Given the description of an element on the screen output the (x, y) to click on. 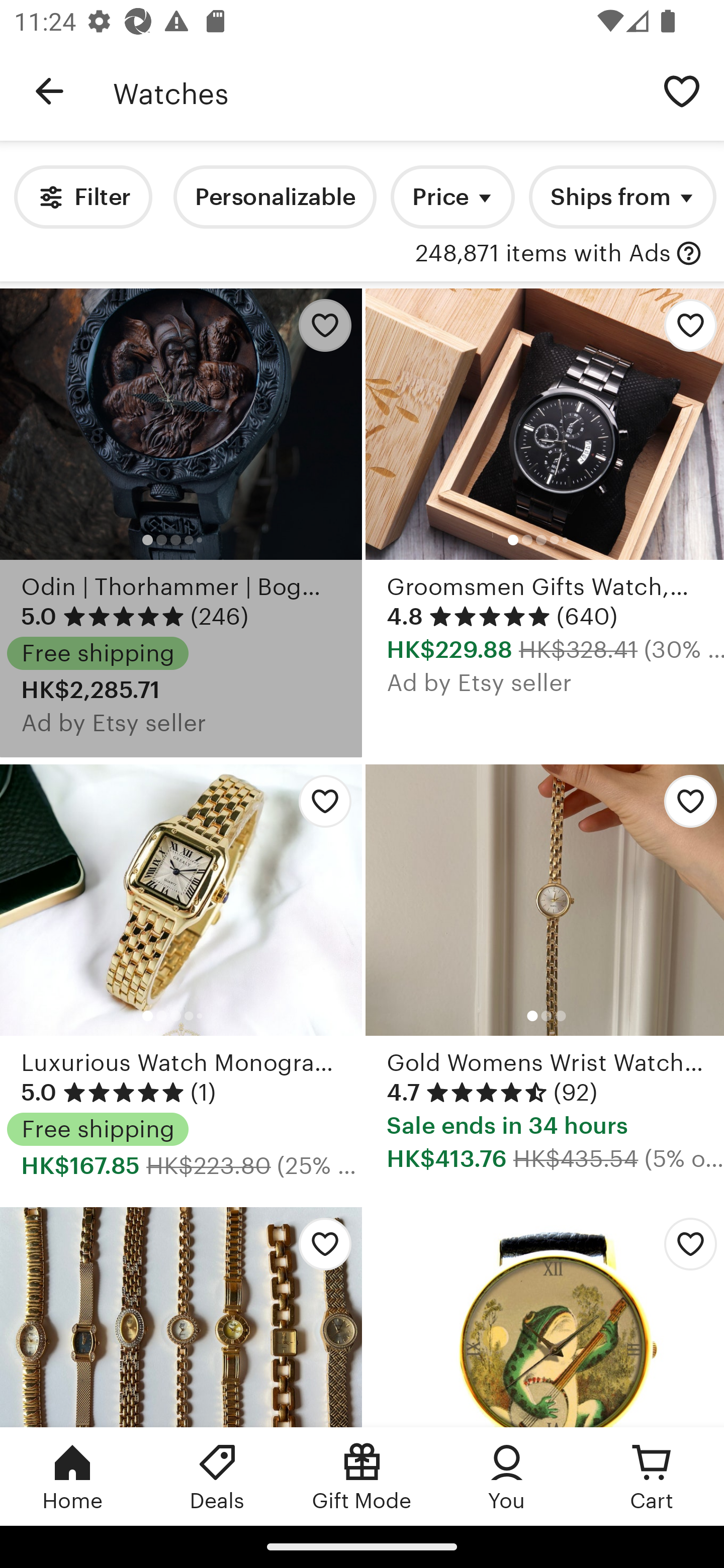
Navigate up (49, 91)
Save search (681, 90)
Watches (375, 91)
Filter (82, 197)
Personalizable (274, 197)
Price (452, 197)
Ships from (622, 197)
248,871 items with Ads (543, 253)
with Ads (688, 253)
Deals (216, 1475)
Gift Mode (361, 1475)
You (506, 1475)
Cart (651, 1475)
